Given the description of an element on the screen output the (x, y) to click on. 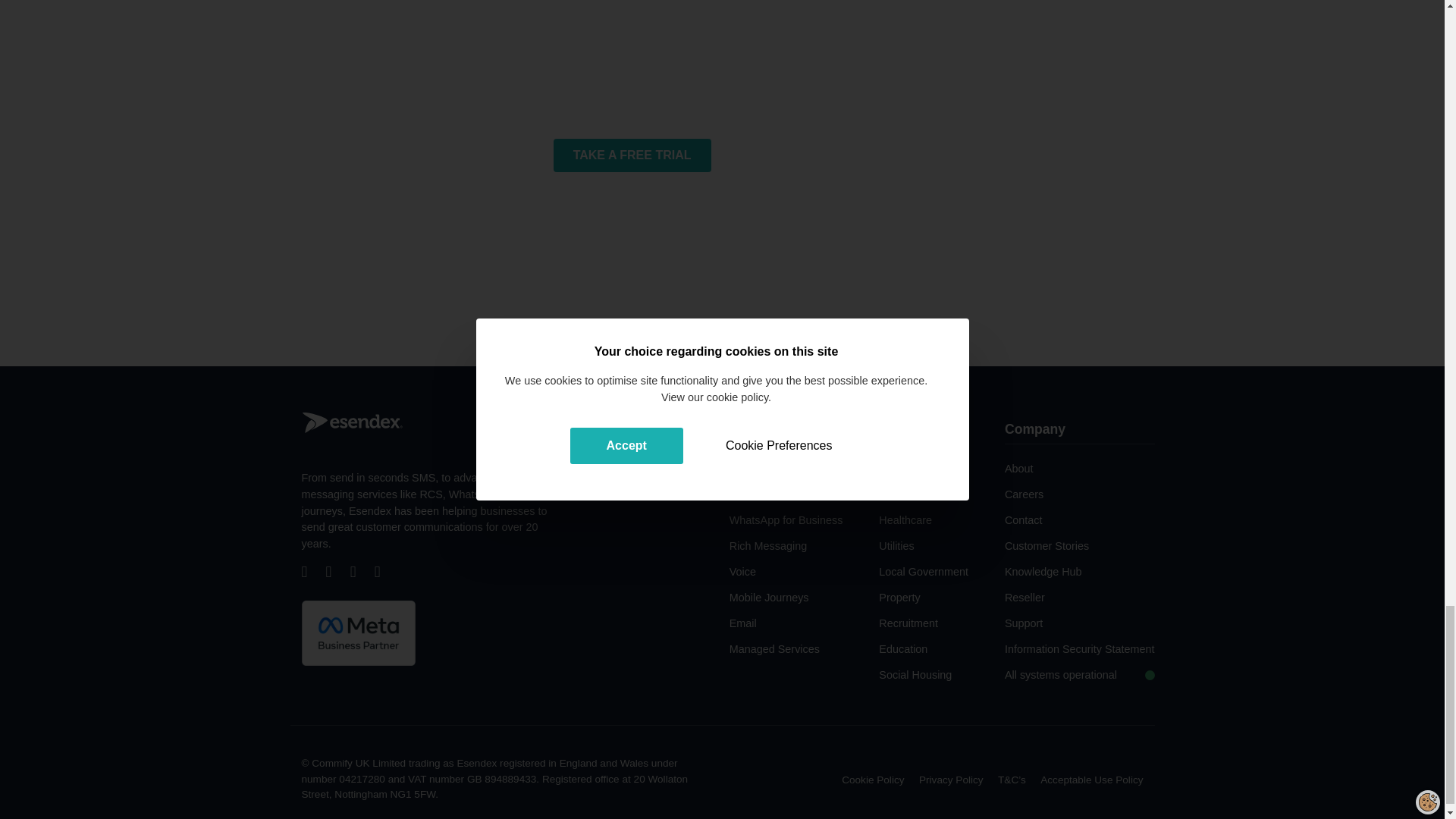
LinkedIn (360, 573)
Blog (385, 573)
Twitter (336, 573)
Facebook (312, 573)
